Given the description of an element on the screen output the (x, y) to click on. 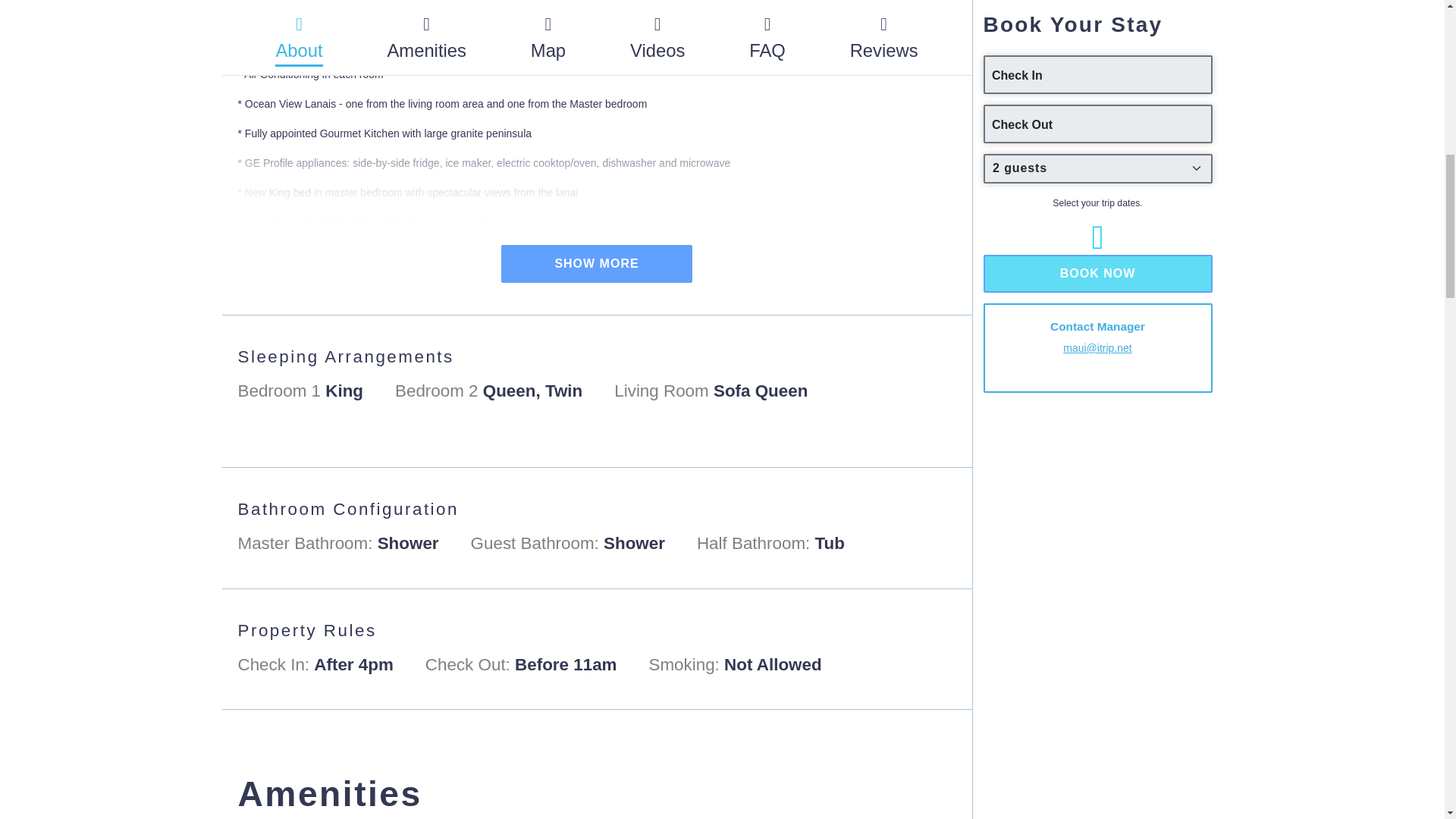
SHOW MORE (596, 263)
